Given the description of an element on the screen output the (x, y) to click on. 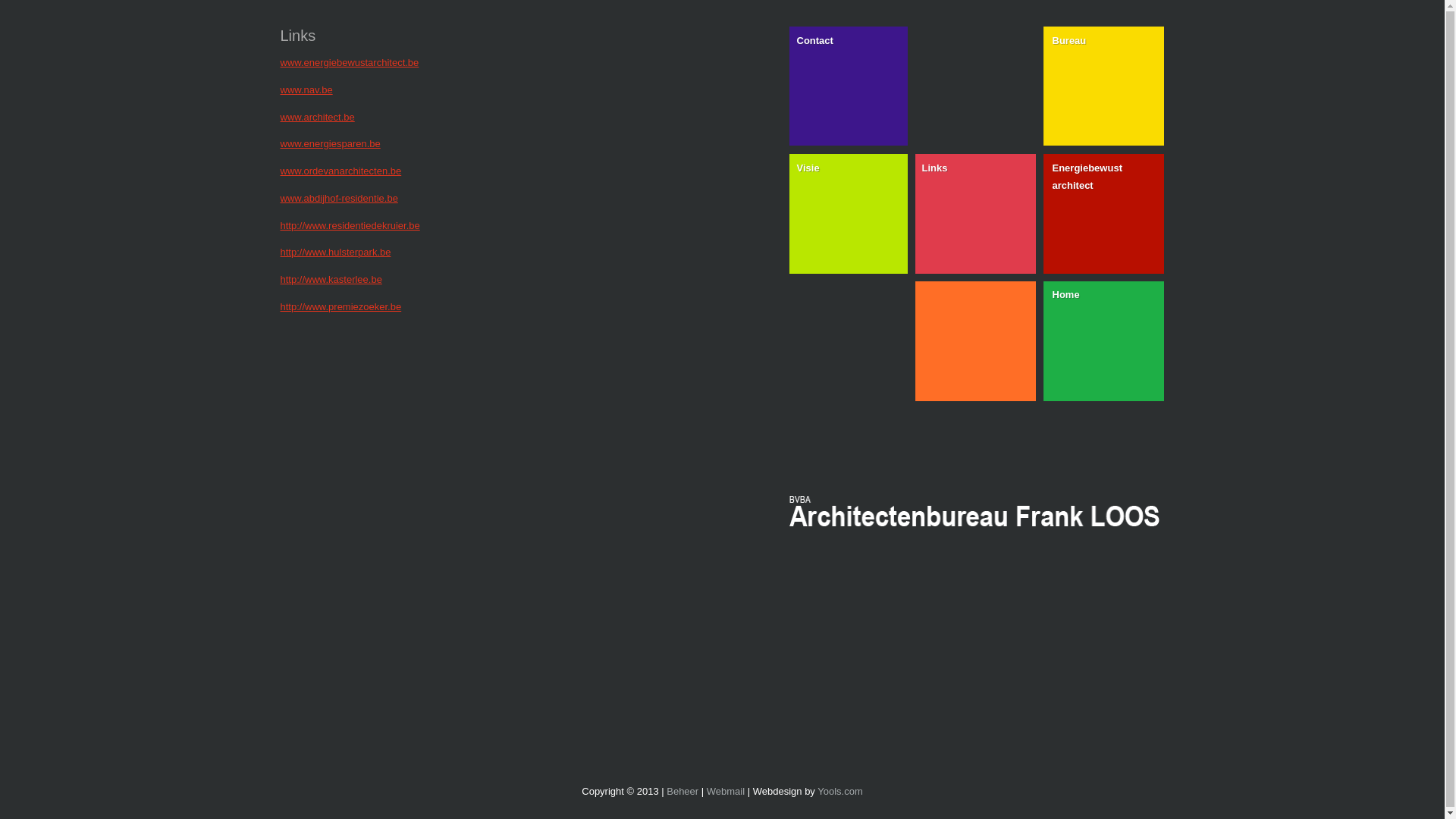
www.nav.be Element type: text (306, 89)
Visie Element type: text (847, 211)
Webmail Element type: text (725, 791)
www.architect.be Element type: text (317, 116)
www.abdijhof-residentie.be Element type: text (339, 197)
http://www.hulsterpark.be Element type: text (335, 251)
http://www.premiezoeker.be Element type: text (340, 306)
Contact Element type: text (847, 83)
Home Element type: text (1103, 337)
Energiebewust architect Element type: text (1103, 211)
www.ordevanarchitecten.be Element type: text (340, 170)
Links Element type: text (973, 211)
Beheer Element type: text (682, 791)
www.energiesparen.be Element type: text (330, 143)
http://www.residentiedekruier.be Element type: text (350, 225)
www.energiebewustarchitect.be Element type: text (349, 62)
Yools.com Element type: text (839, 791)
Bureau Element type: text (1103, 83)
http://www.kasterlee.be Element type: text (331, 279)
